Given the description of an element on the screen output the (x, y) to click on. 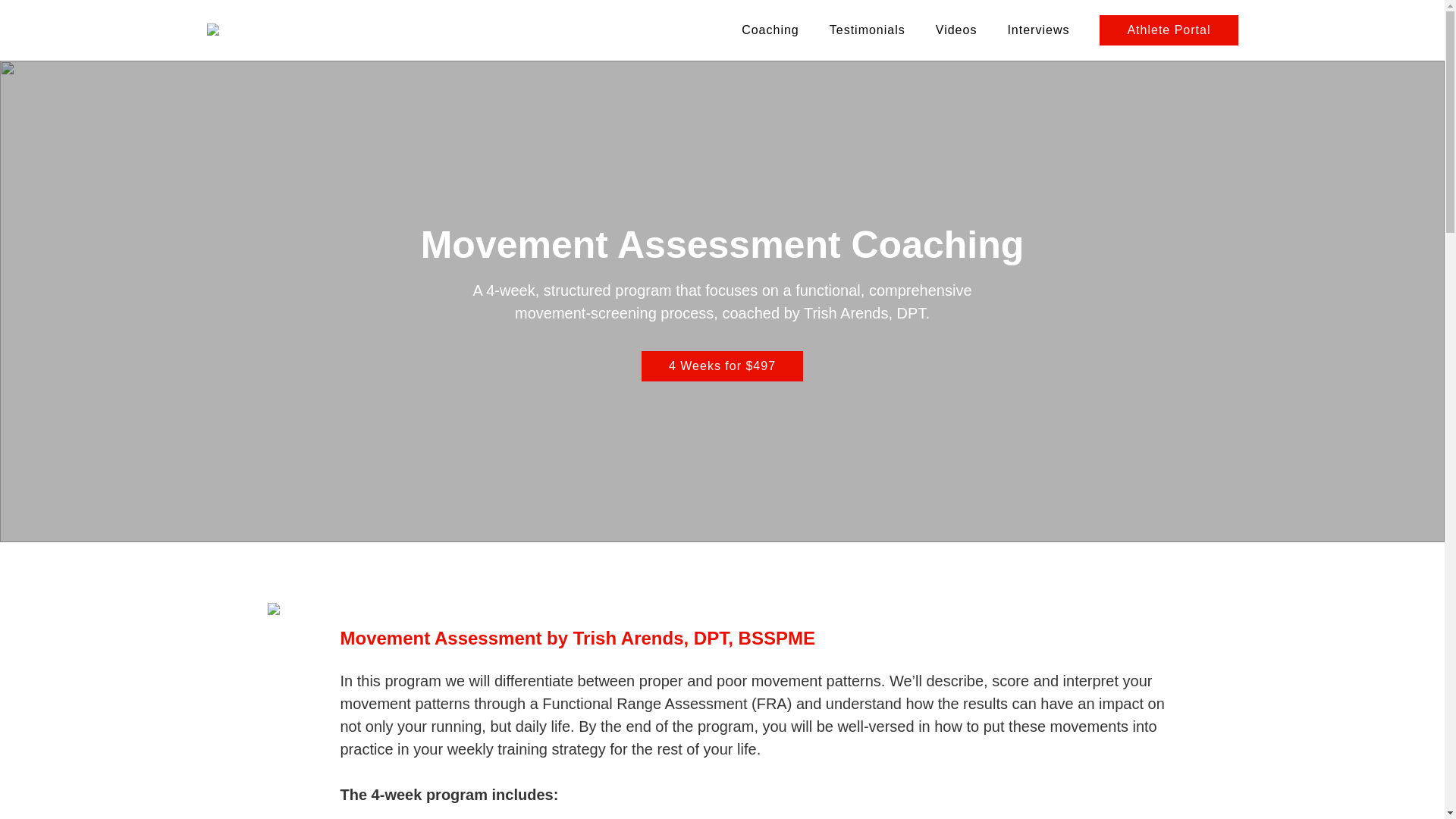
Videos (956, 30)
Testimonials (867, 30)
Interviews (1037, 30)
Coaching (770, 30)
Athlete Portal (1168, 30)
